Given the description of an element on the screen output the (x, y) to click on. 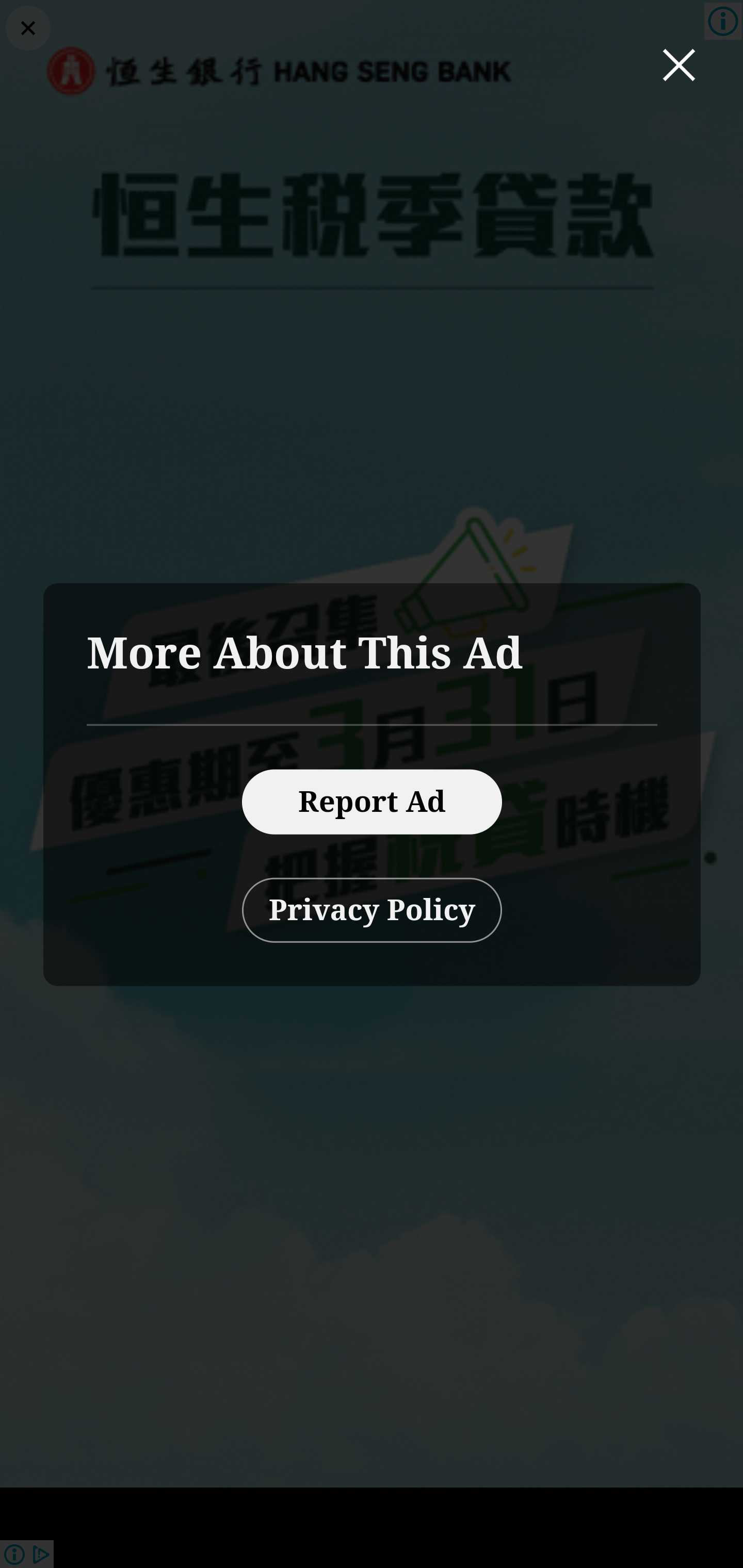
close (679, 65)
Report Ad (372, 801)
Privacy Policy (372, 910)
